Given the description of an element on the screen output the (x, y) to click on. 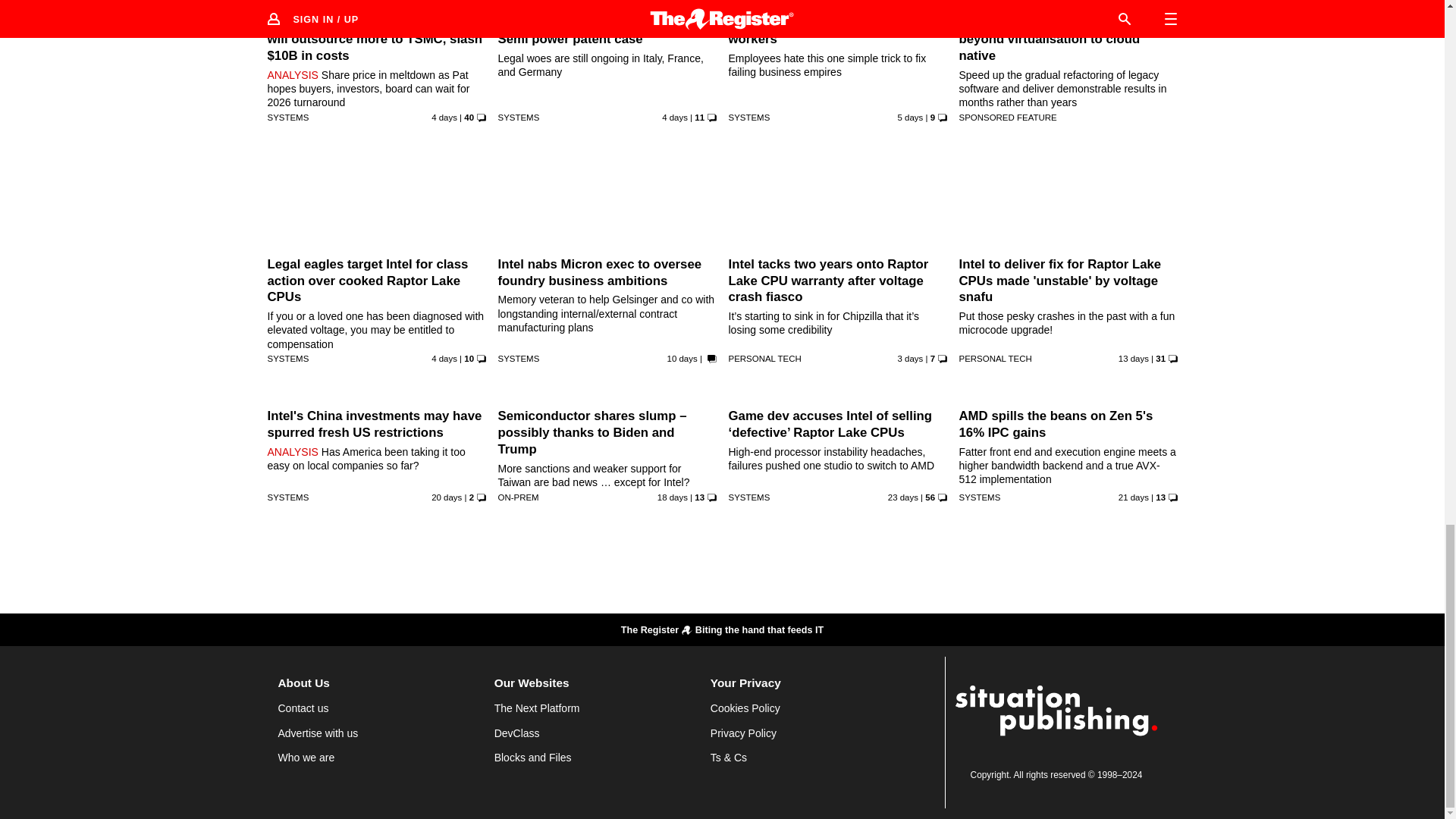
2 Aug 2024 20:14 (910, 358)
23 Jul 2024 5:41 (1133, 358)
31 Jul 2024 19:42 (910, 117)
16 Jul 2024 12:47 (445, 497)
1 Aug 2024 17:3 (443, 358)
26 Jul 2024 16:29 (681, 358)
1 Aug 2024 7:30 (674, 117)
18 Jul 2024 6:25 (672, 497)
1 Aug 2024 20:56 (443, 117)
